Given the description of an element on the screen output the (x, y) to click on. 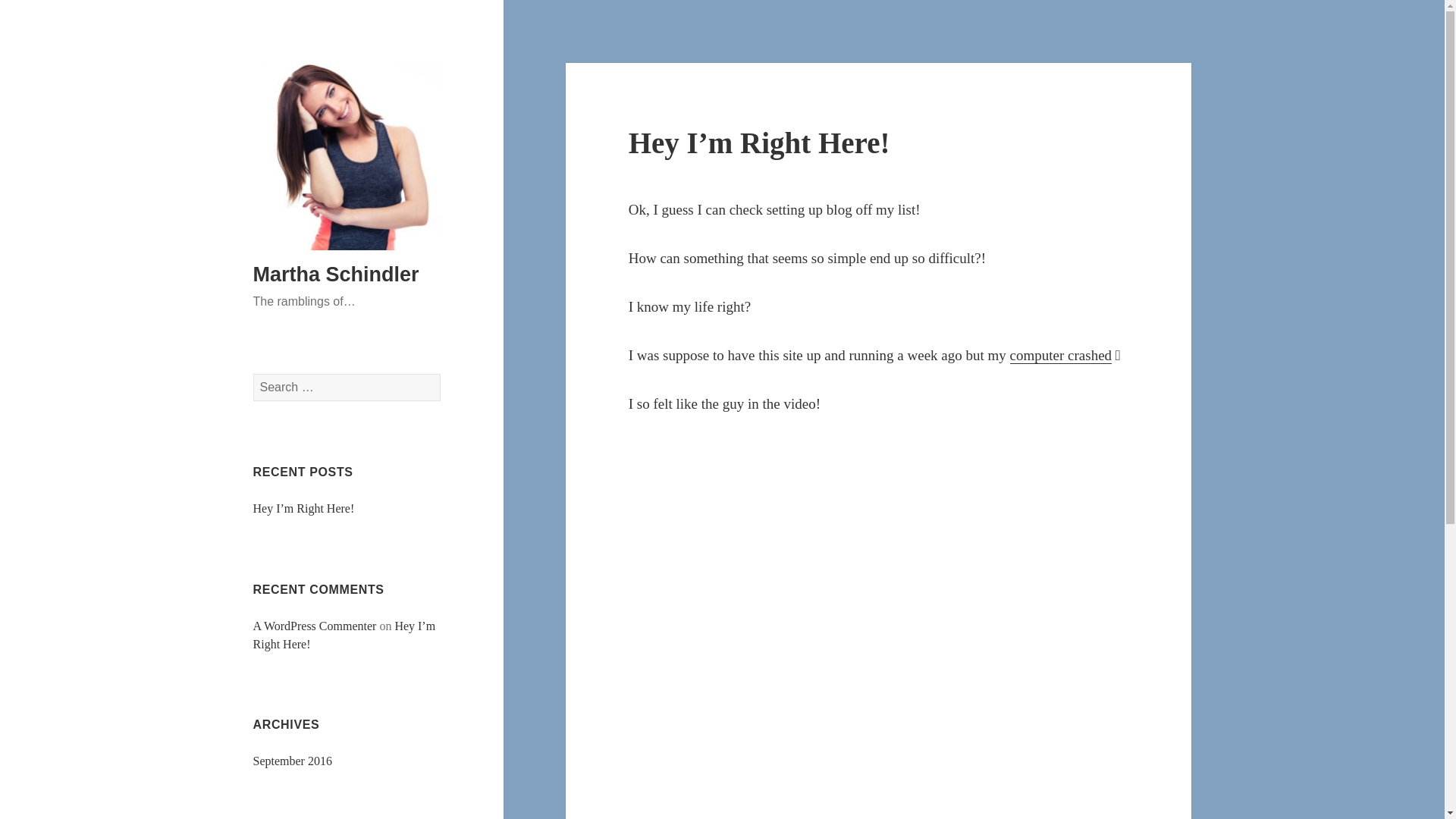
September 2016 (292, 760)
A WordPress Commenter (315, 625)
computer crashed (1061, 355)
Martha Schindler (336, 273)
